Given the description of an element on the screen output the (x, y) to click on. 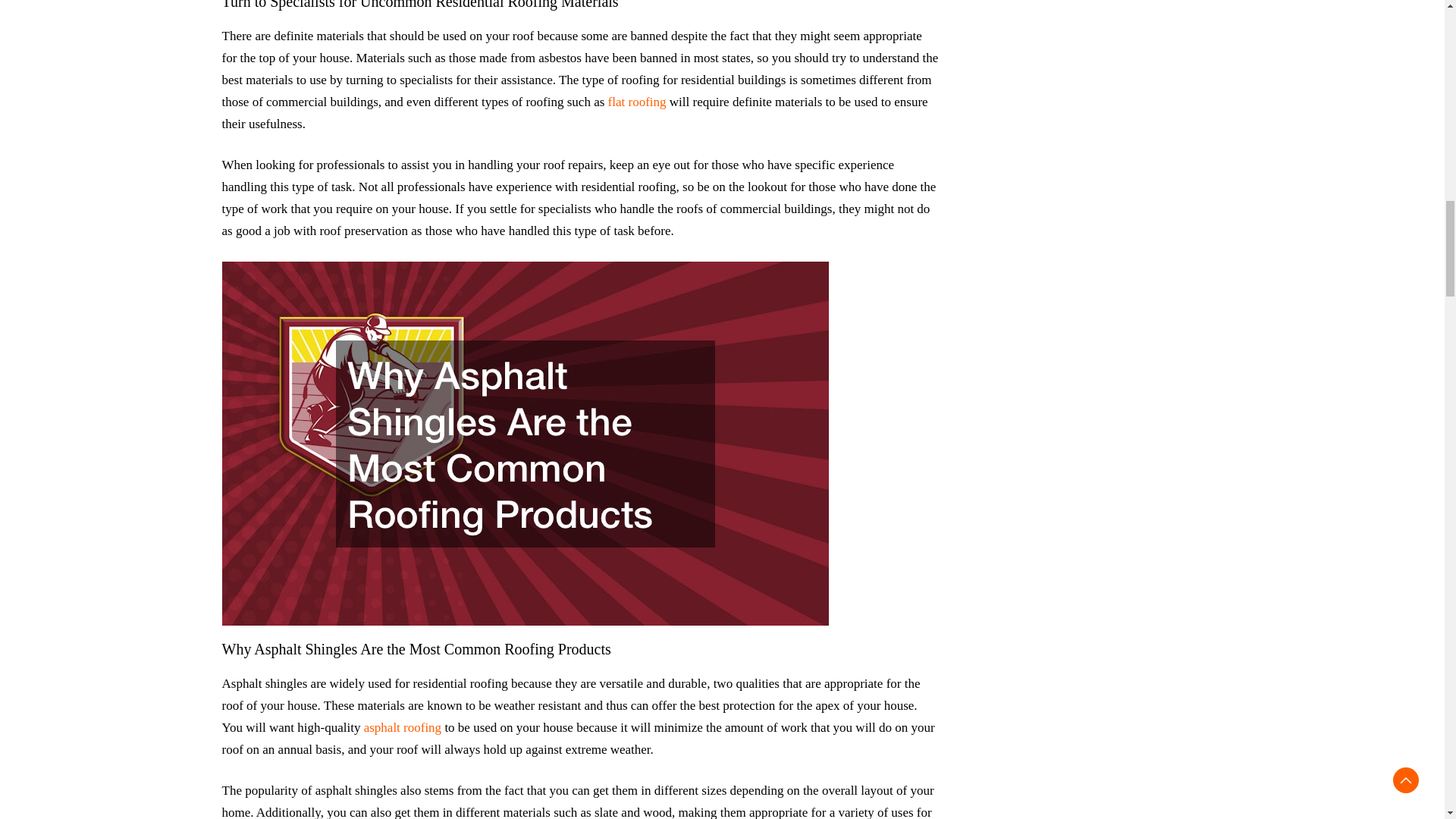
flat roofing (637, 101)
asphalt roofing (402, 727)
